Given the description of an element on the screen output the (x, y) to click on. 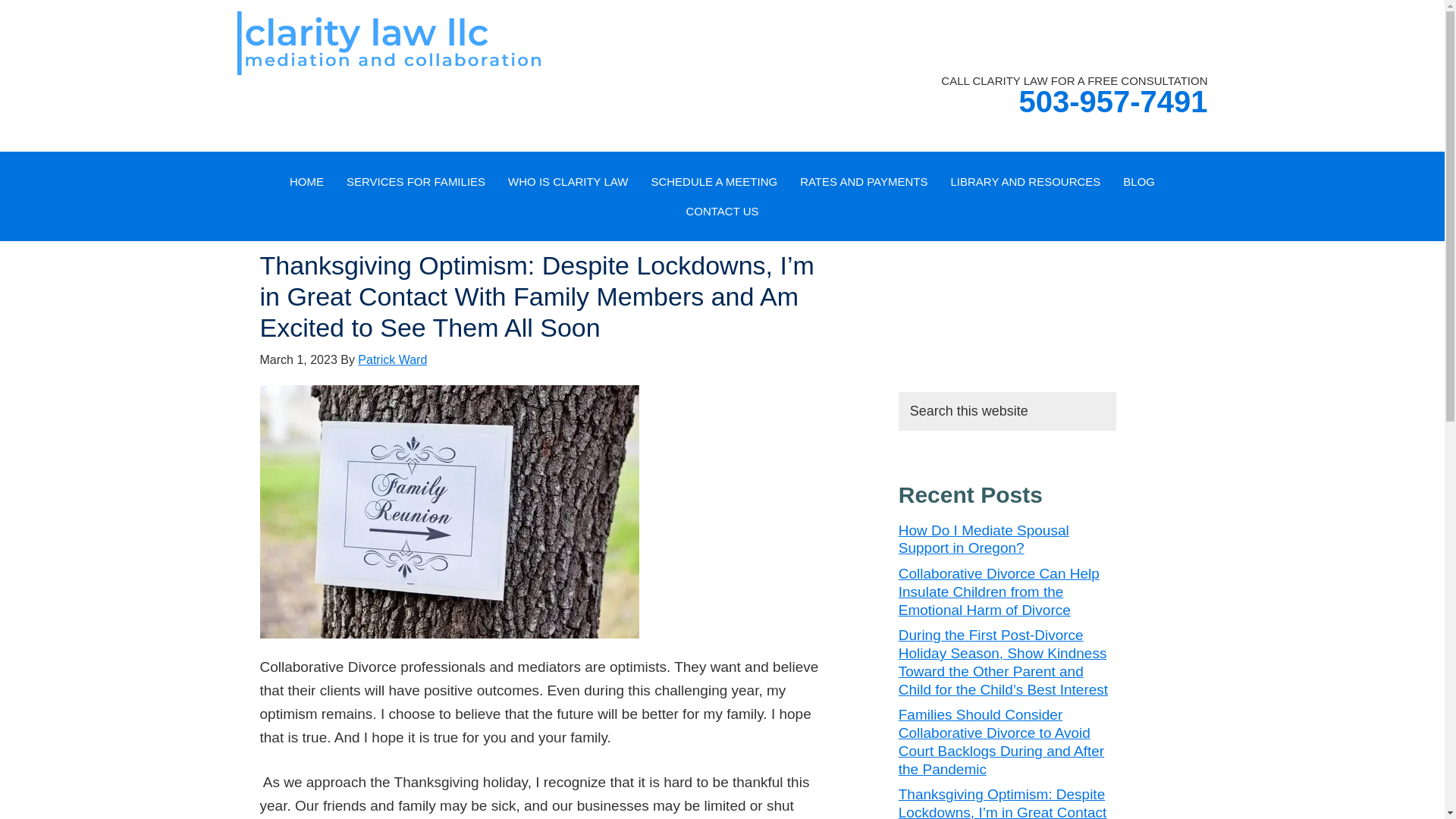
WHO IS CLARITY LAW (567, 181)
SCHEDULE A MEETING (714, 181)
RATES AND PAYMENTS (864, 181)
SERVICES FOR FAMILIES (415, 181)
Patrick Ward (392, 359)
CONTACT US (722, 211)
LIBRARY AND RESOURCES (1025, 181)
HOME (306, 181)
BLOG (1139, 181)
503-957-7491 (1112, 101)
